Given the description of an element on the screen output the (x, y) to click on. 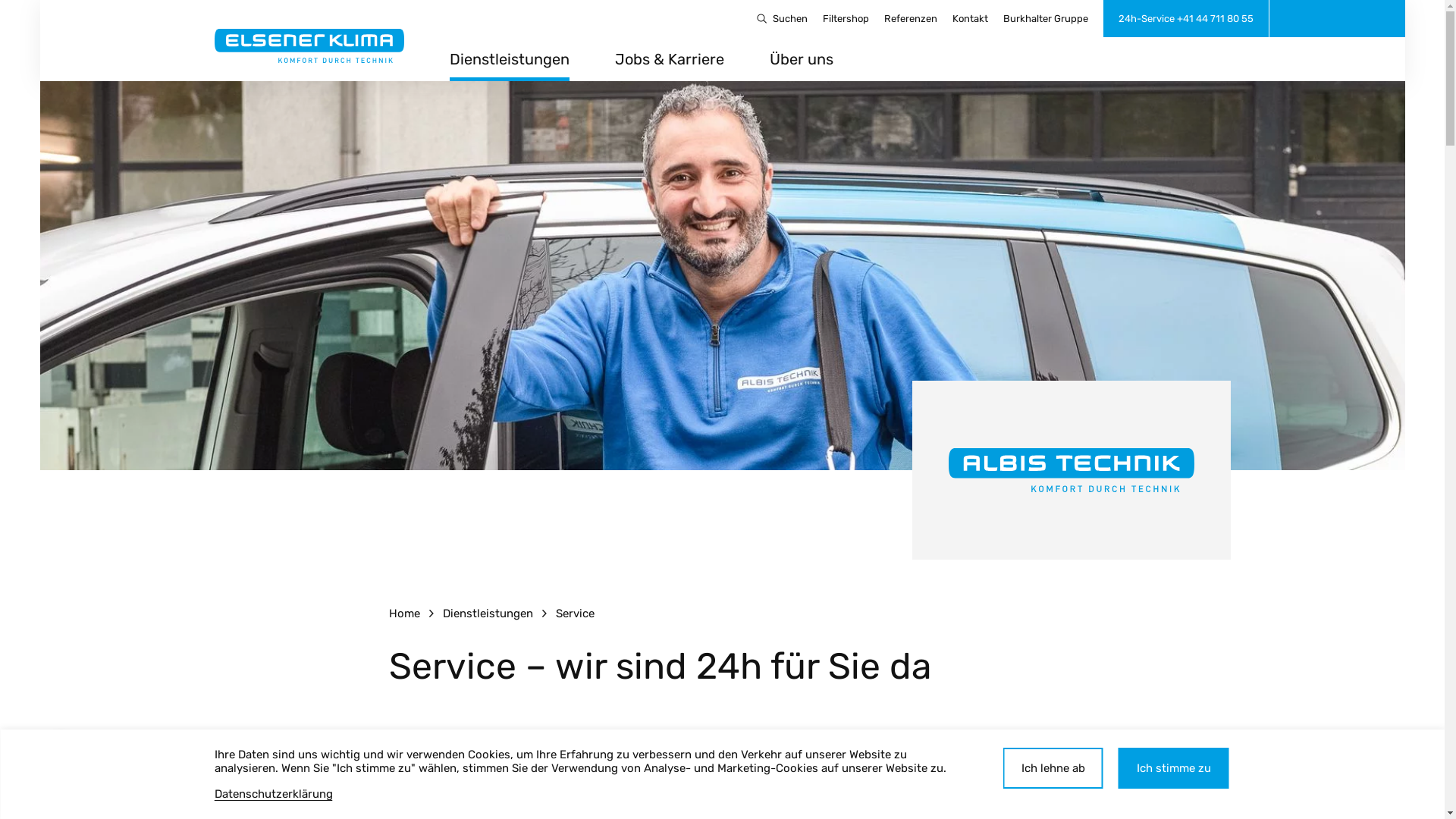
Dienstleistungen Element type: text (487, 613)
Kontakt Element type: text (970, 18)
Filtershop Element type: text (845, 18)
Suchen Element type: text (780, 18)
Burkhalter Gruppe Element type: text (1044, 18)
24h-Service +41 44 711 80 55 Element type: text (1184, 18)
Home Element type: text (403, 613)
Ich stimme zu Element type: text (1172, 767)
Dienstleistungen Element type: text (509, 65)
Referenzen Element type: text (910, 18)
Jobs & Karriere Element type: text (669, 65)
Ich lehne ab Element type: text (1052, 767)
